Given the description of an element on the screen output the (x, y) to click on. 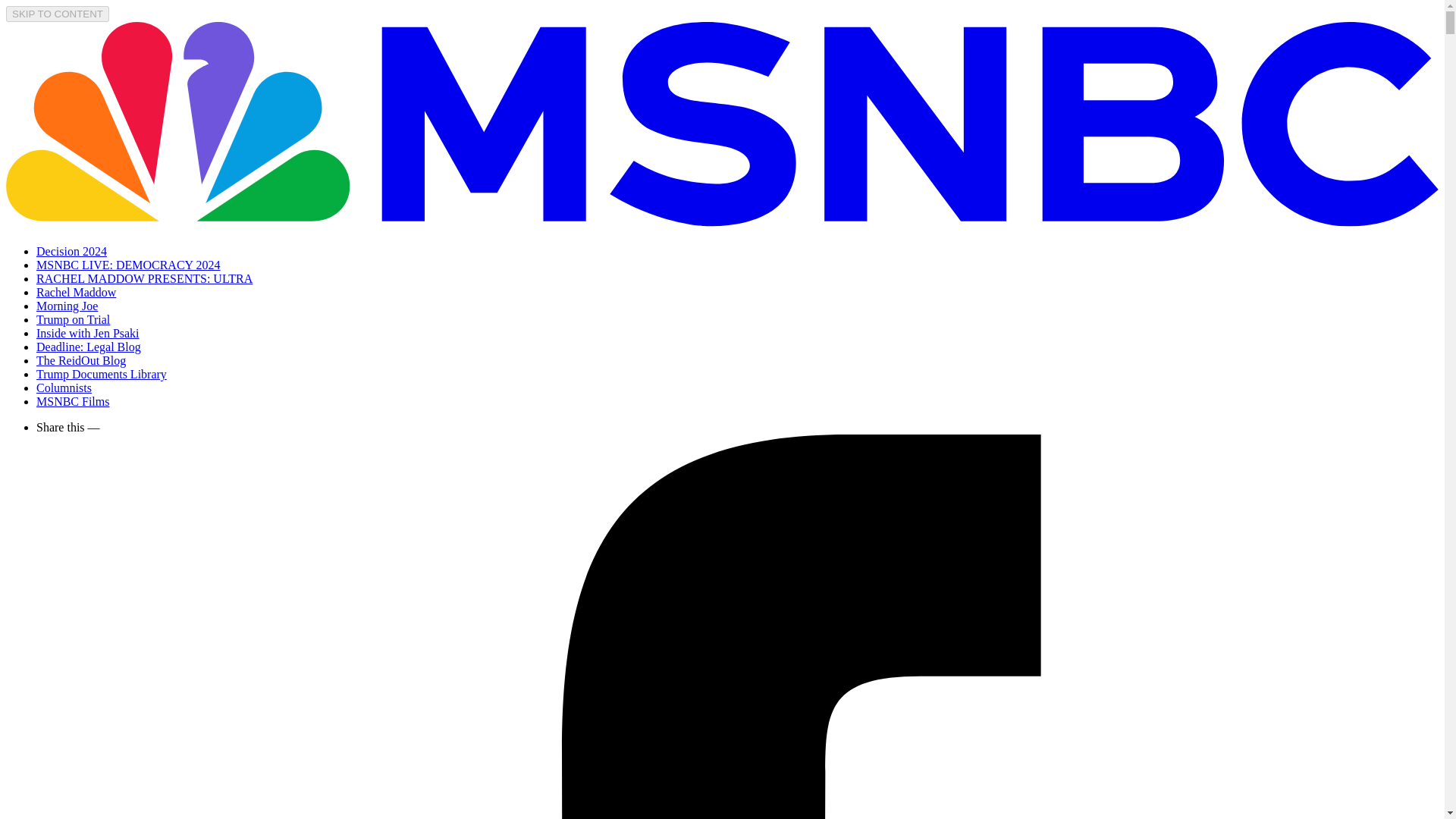
MSNBC LIVE: DEMOCRACY 2024 (128, 264)
Decision 2024 (71, 250)
Morning Joe (66, 305)
Trump on Trial (73, 318)
RACHEL MADDOW PRESENTS: ULTRA (143, 278)
Inside with Jen Psaki (87, 332)
The ReidOut Blog (80, 359)
MSNBC Films (72, 400)
Deadline: Legal Blog (88, 346)
Columnists (63, 387)
